Given the description of an element on the screen output the (x, y) to click on. 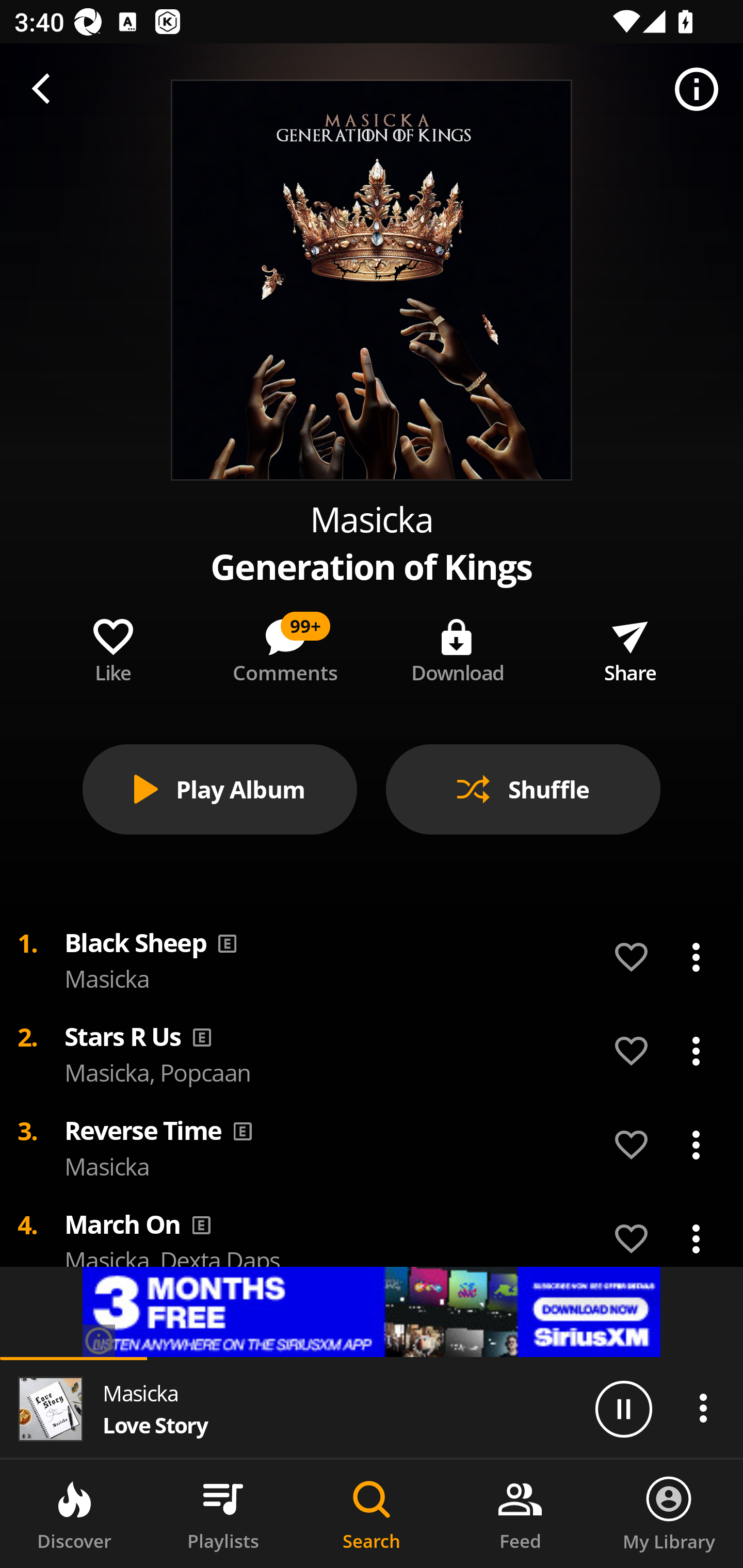
Music info (696, 89)
Close (46, 100)
Song artwork Indila Love Story Download Actions (371, 535)
Like (112, 647)
Comment Comment 99+ Comments (285, 647)
Download (457, 647)
Share (629, 647)
Play Album (219, 789)
Shuffle (522, 789)
1. Black Sheep    Masicka Actions (371, 957)
Actions (695, 957)
2. Stars R Us    Masicka, Popcaan Actions (371, 1050)
Actions (695, 1051)
3. Reverse Time    Masicka Actions (371, 1144)
Actions (695, 1145)
Actions (695, 1238)
Actions (703, 1407)
Play/Pause (623, 1408)
Discover (74, 1513)
Playlists (222, 1513)
Search (371, 1513)
Feed (519, 1513)
My Library (668, 1513)
